Given the description of an element on the screen output the (x, y) to click on. 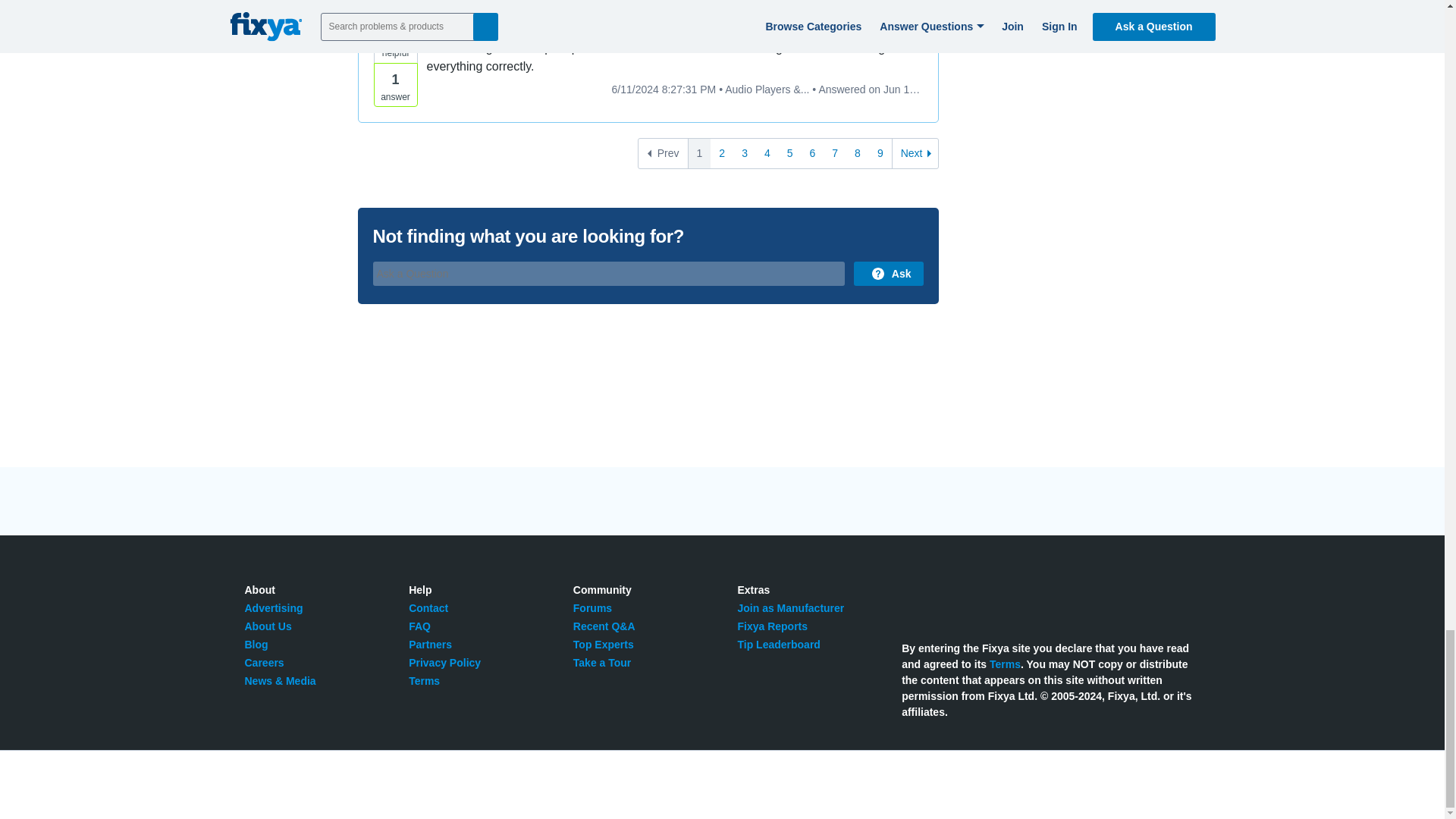
Ask (888, 273)
Connect with Fixya on LinkedIn (978, 597)
Follow Fixya on Twitter (910, 597)
Join Fixya on Facebook (945, 597)
